Given the description of an element on the screen output the (x, y) to click on. 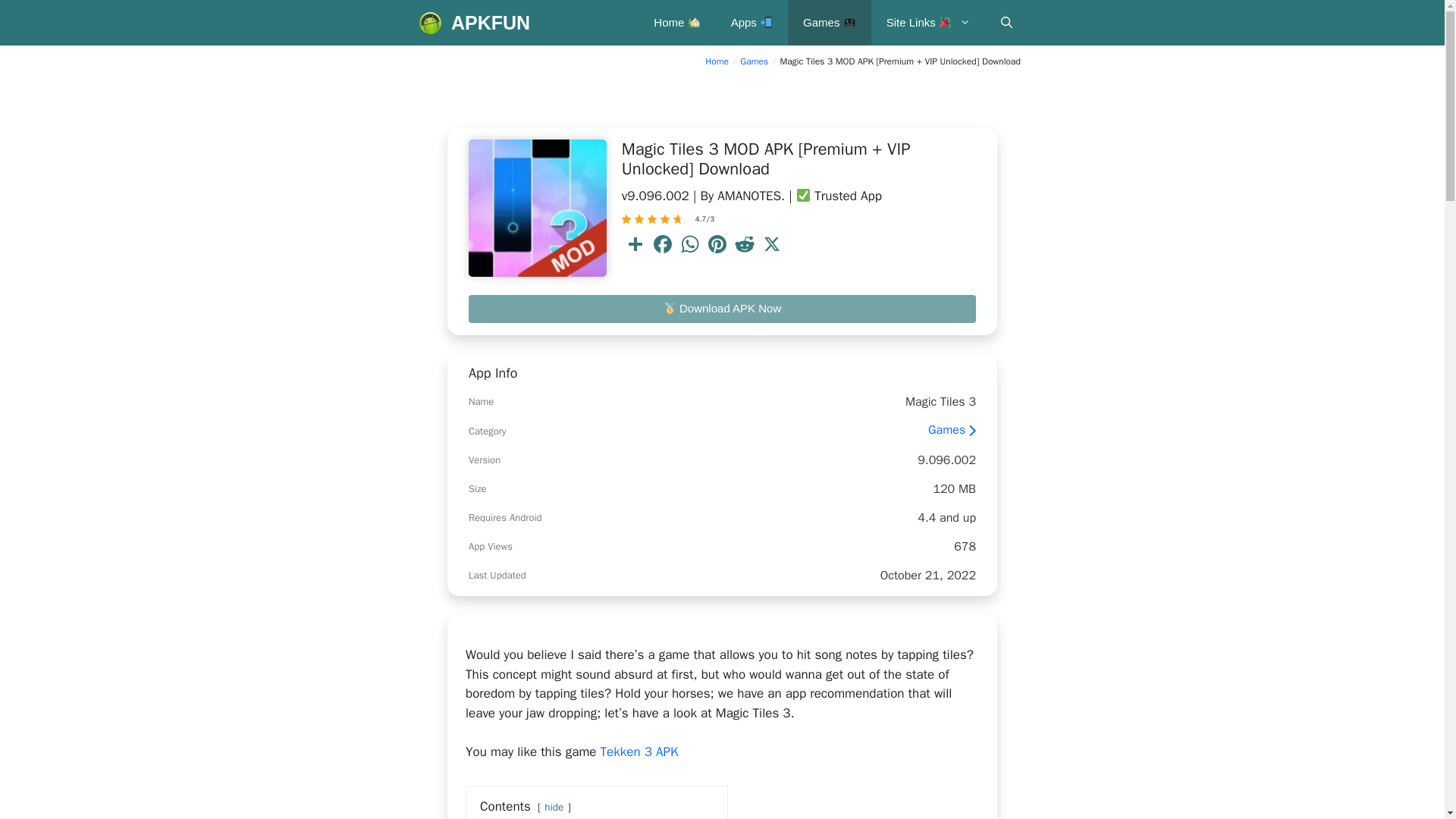
Apps (751, 22)
Home (716, 61)
Site Links (927, 22)
APKFUN (490, 22)
Home (676, 22)
Games (828, 22)
